Given the description of an element on the screen output the (x, y) to click on. 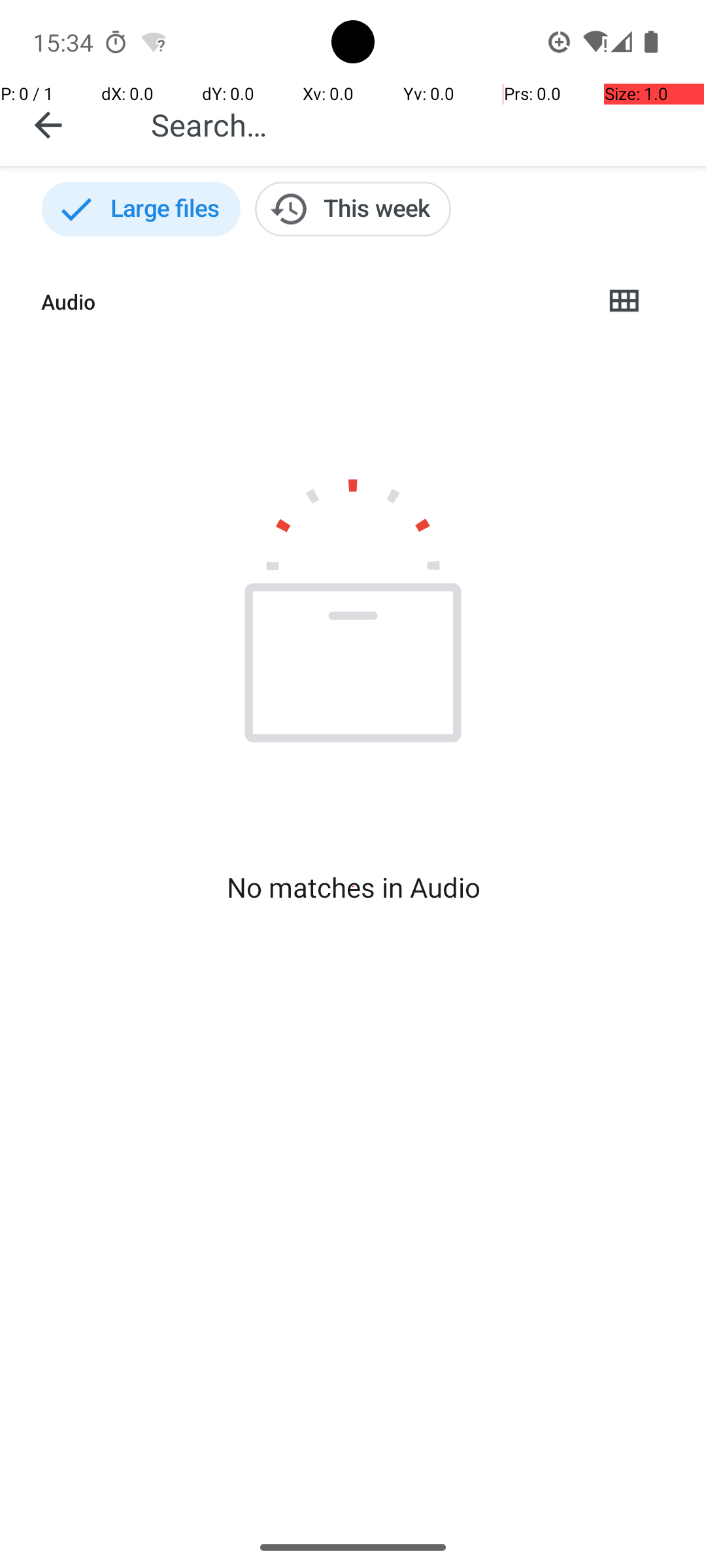
No matches in Audio Element type: android.widget.TextView (353, 886)
